Given the description of an element on the screen output the (x, y) to click on. 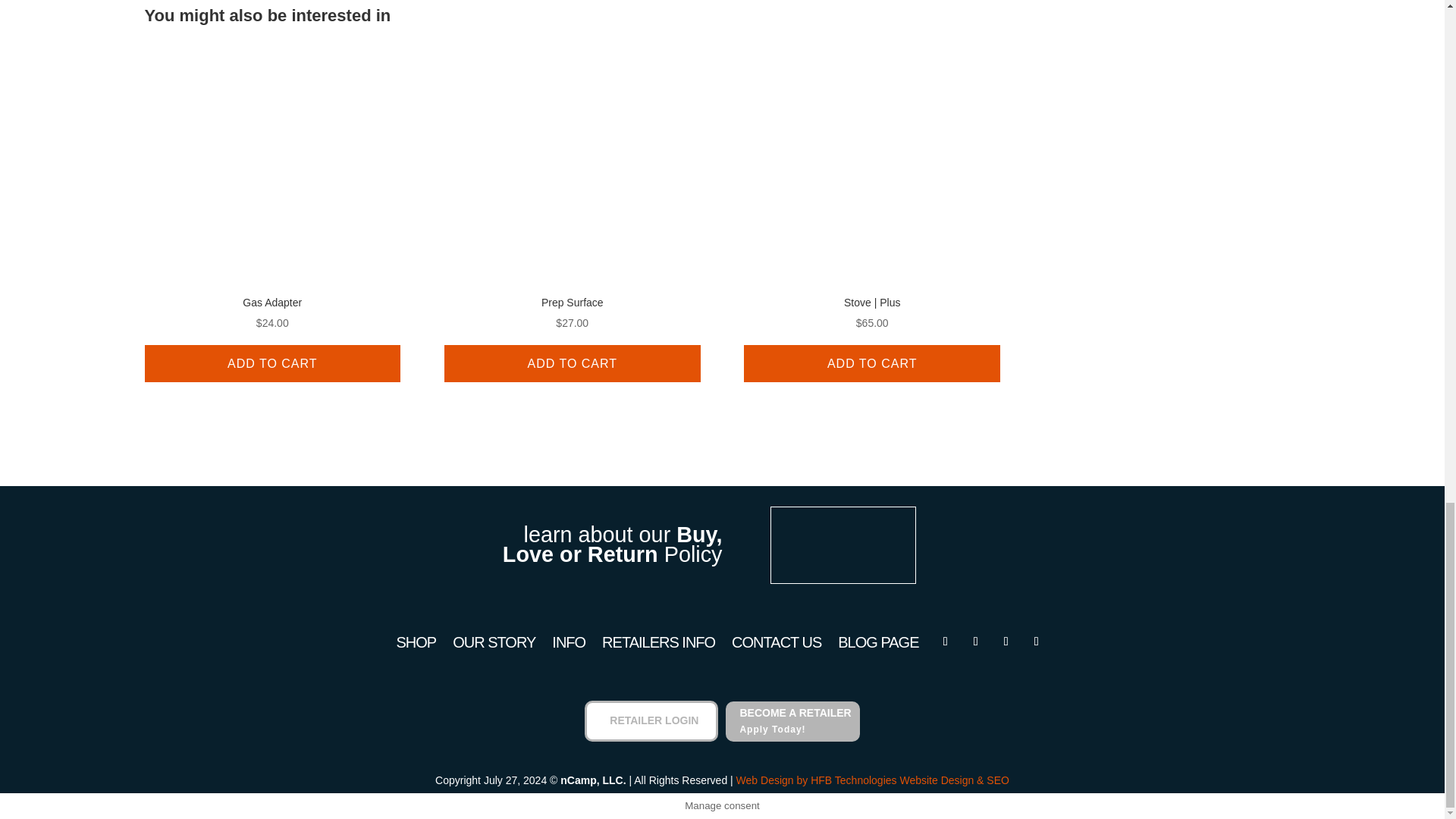
Follow on Facebook (975, 641)
blr-w-padding (842, 544)
Follow on Instagram (945, 641)
